Given the description of an element on the screen output the (x, y) to click on. 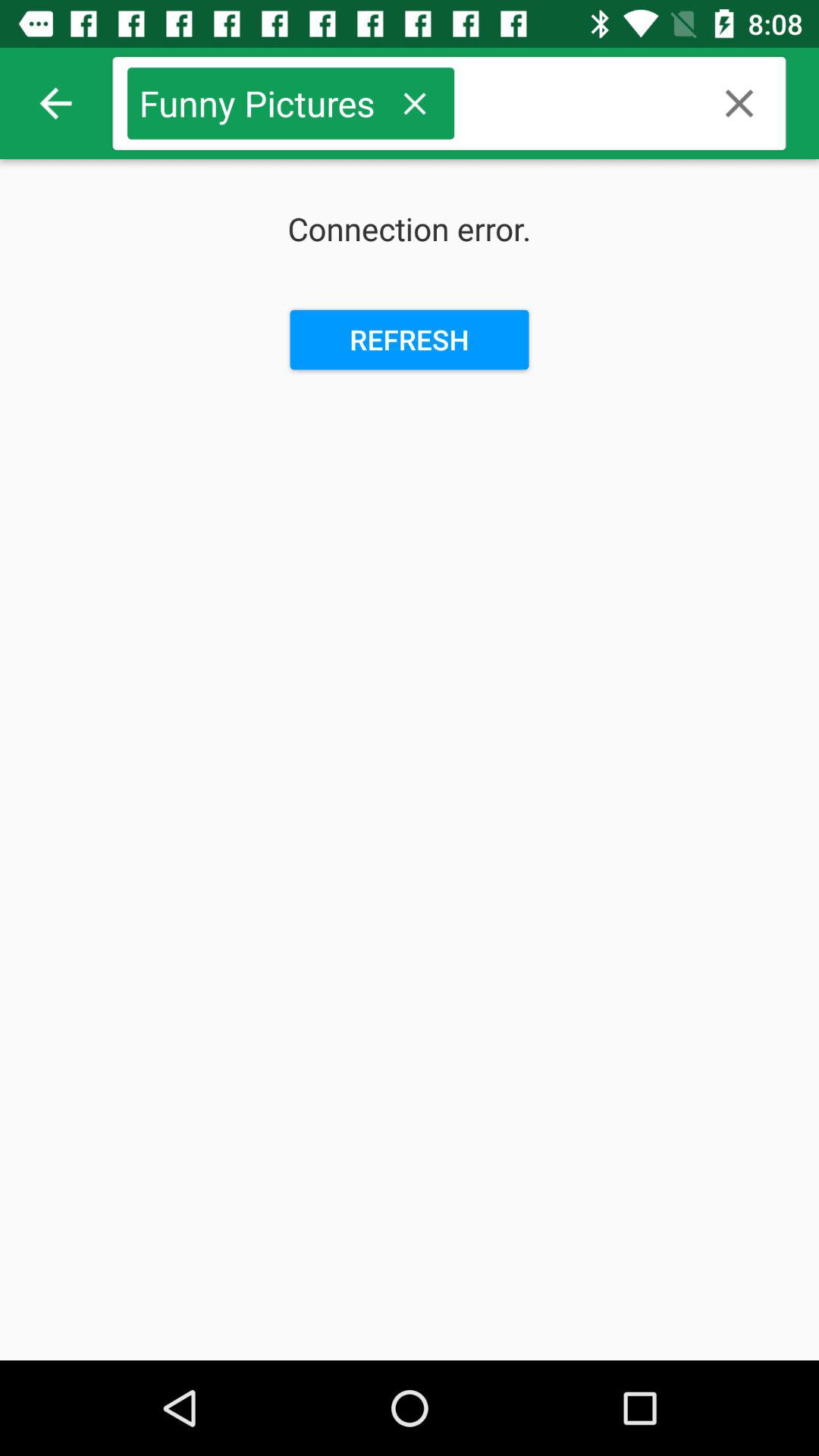
click icon above connection error. item (414, 103)
